Given the description of an element on the screen output the (x, y) to click on. 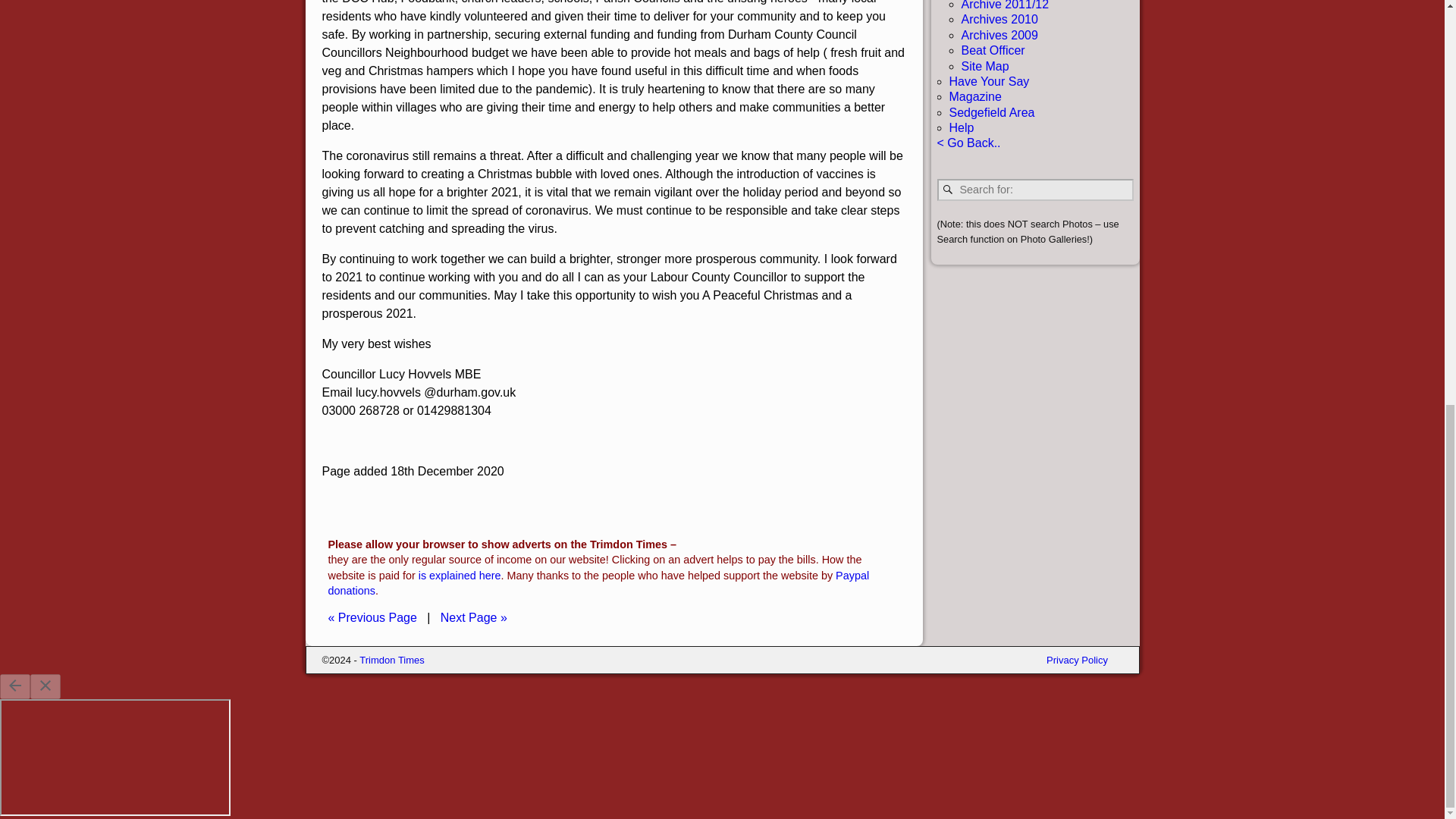
is explained here (459, 575)
Paypal donations (598, 583)
